Given the description of an element on the screen output the (x, y) to click on. 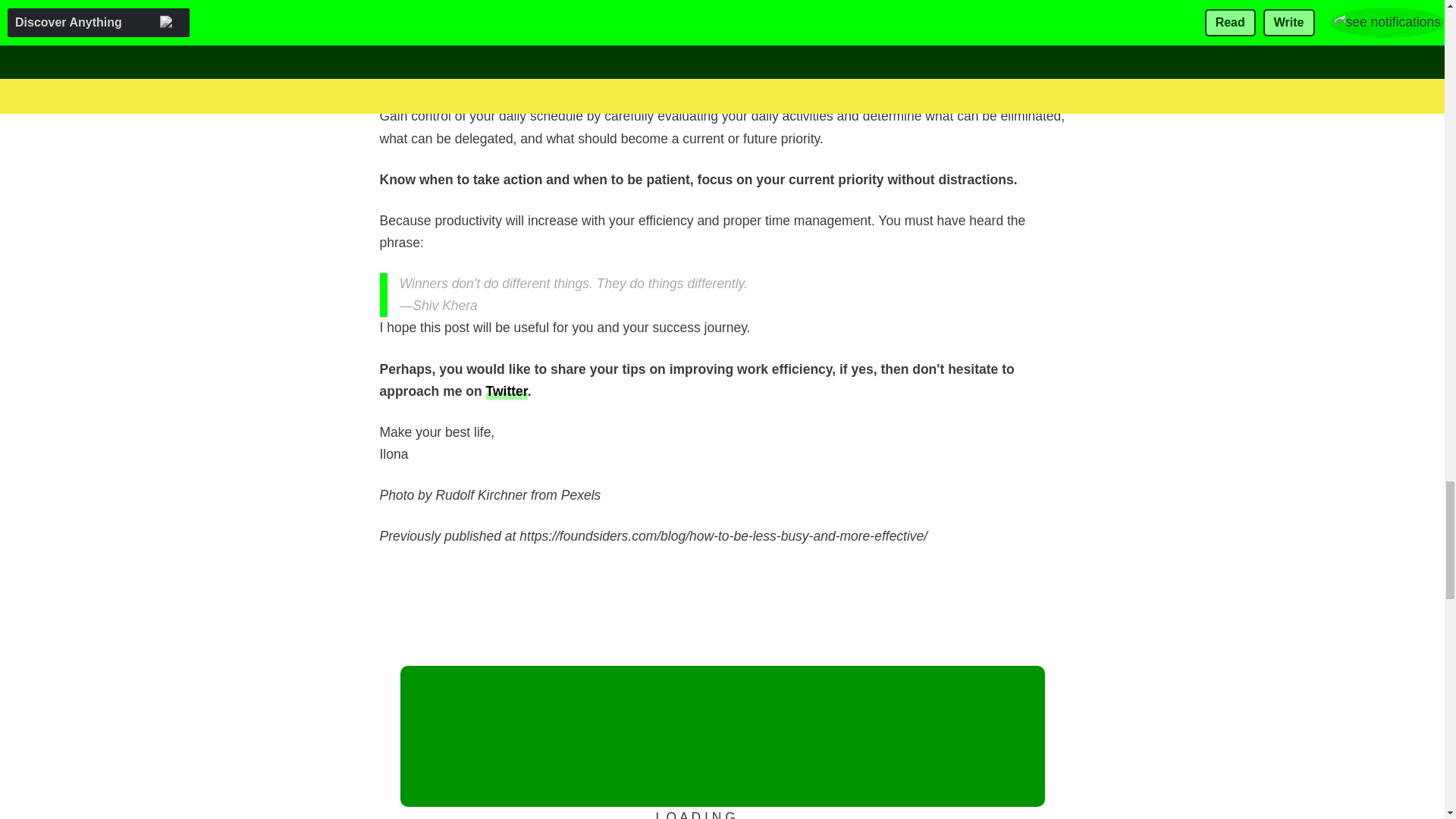
Twitter (506, 390)
